Given the description of an element on the screen output the (x, y) to click on. 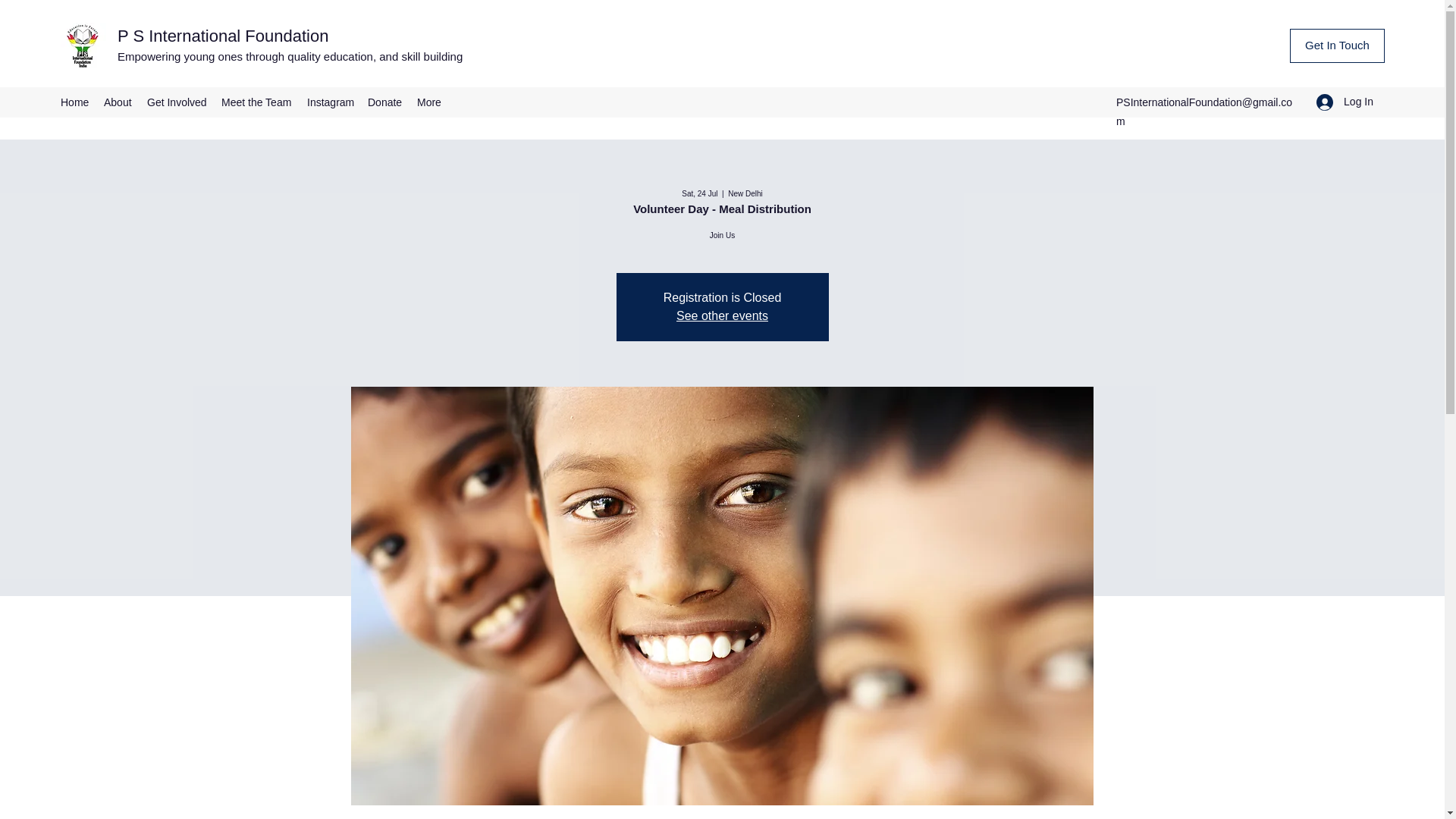
Home (74, 101)
P S International Foundation (223, 35)
Meet the Team (256, 101)
Instagram (329, 101)
Get In Touch (1337, 45)
Donate (384, 101)
About (117, 101)
Get Involved (176, 101)
See other events (722, 315)
Log In (1345, 101)
